Given the description of an element on the screen output the (x, y) to click on. 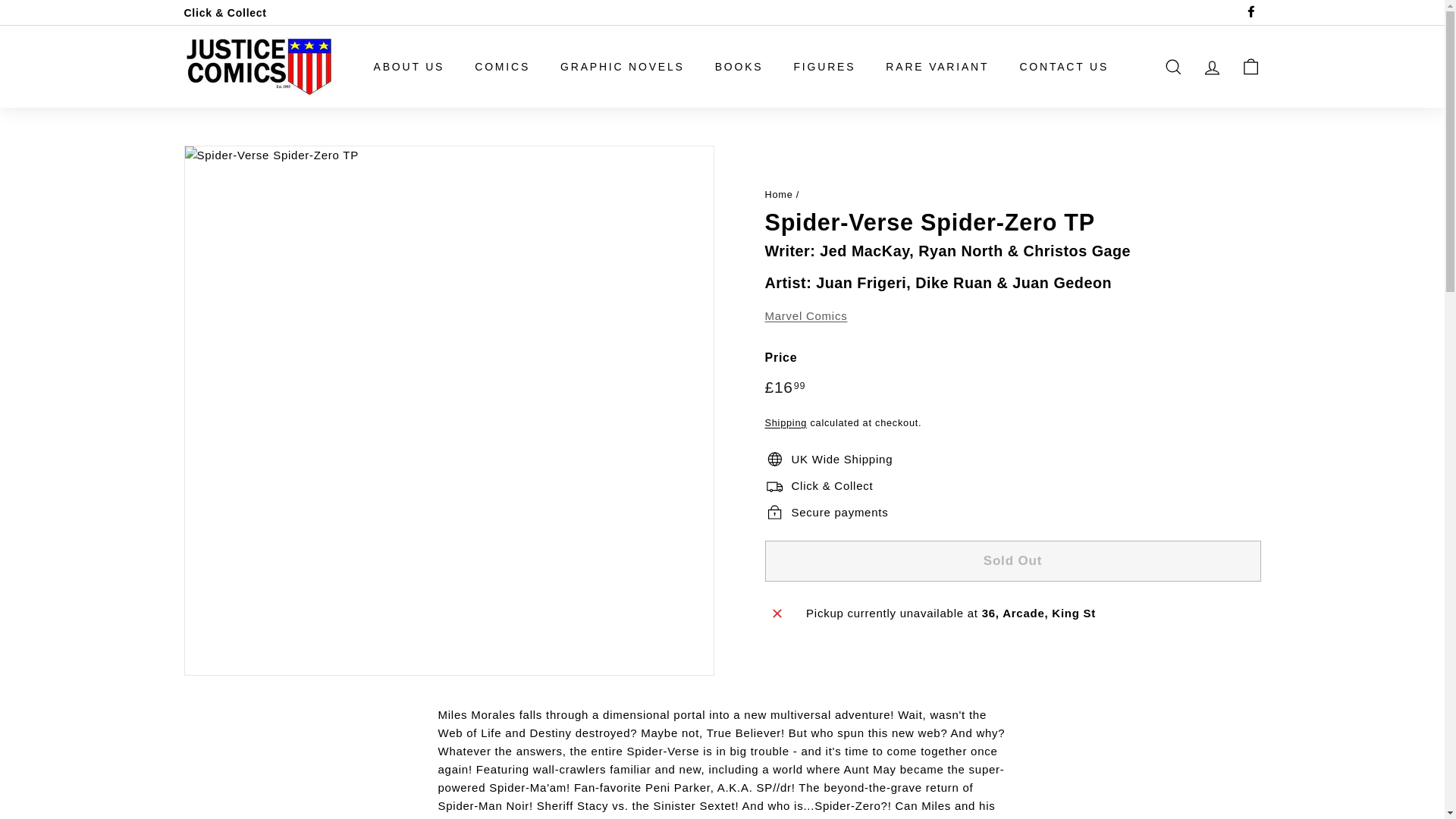
Back to the frontpage (778, 194)
ABOUT US (409, 65)
COMICS (502, 65)
